Given the description of an element on the screen output the (x, y) to click on. 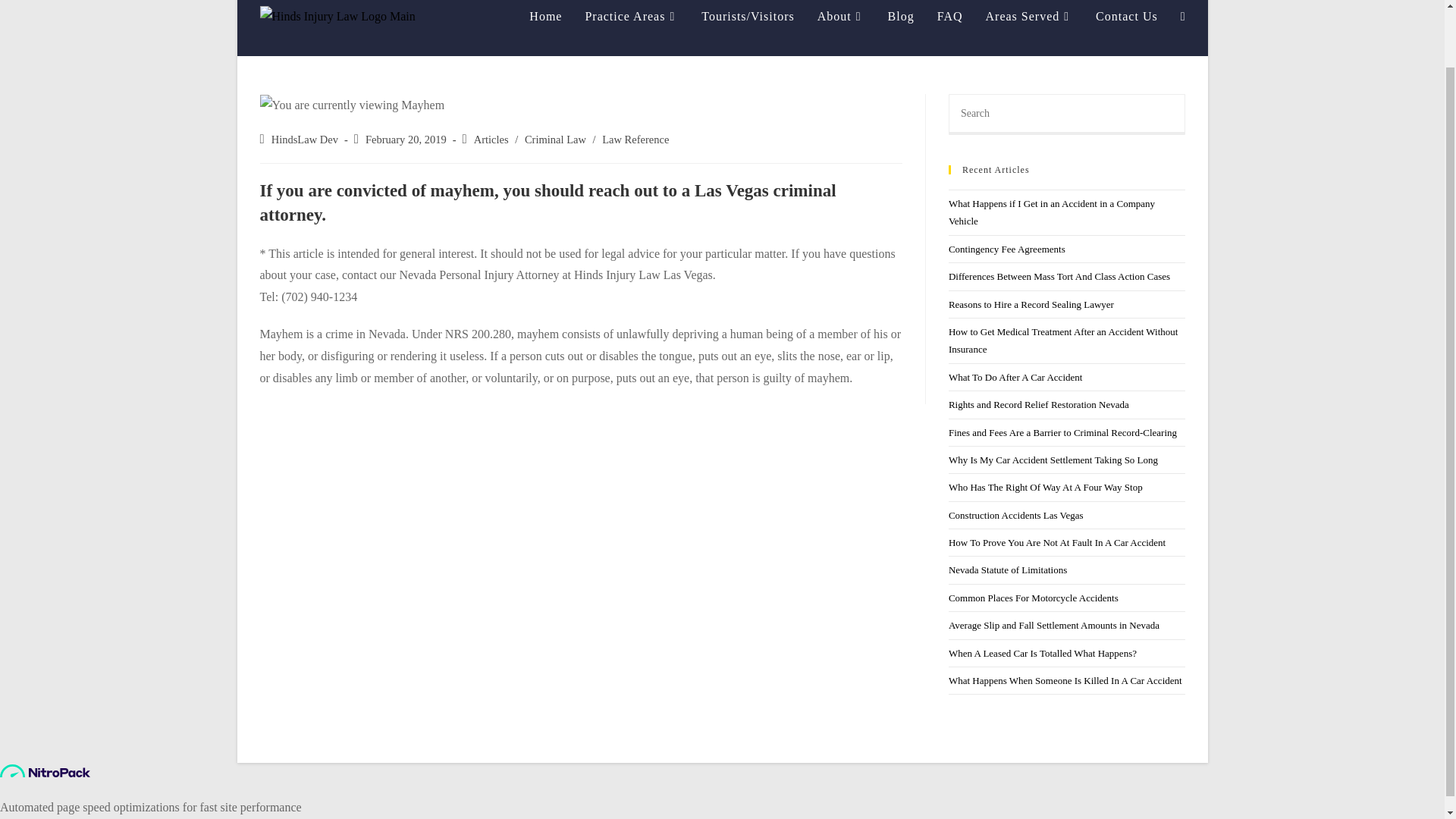
Posts by HindsLaw Dev (303, 139)
Practice Areas (631, 24)
Home (545, 24)
